Given the description of an element on the screen output the (x, y) to click on. 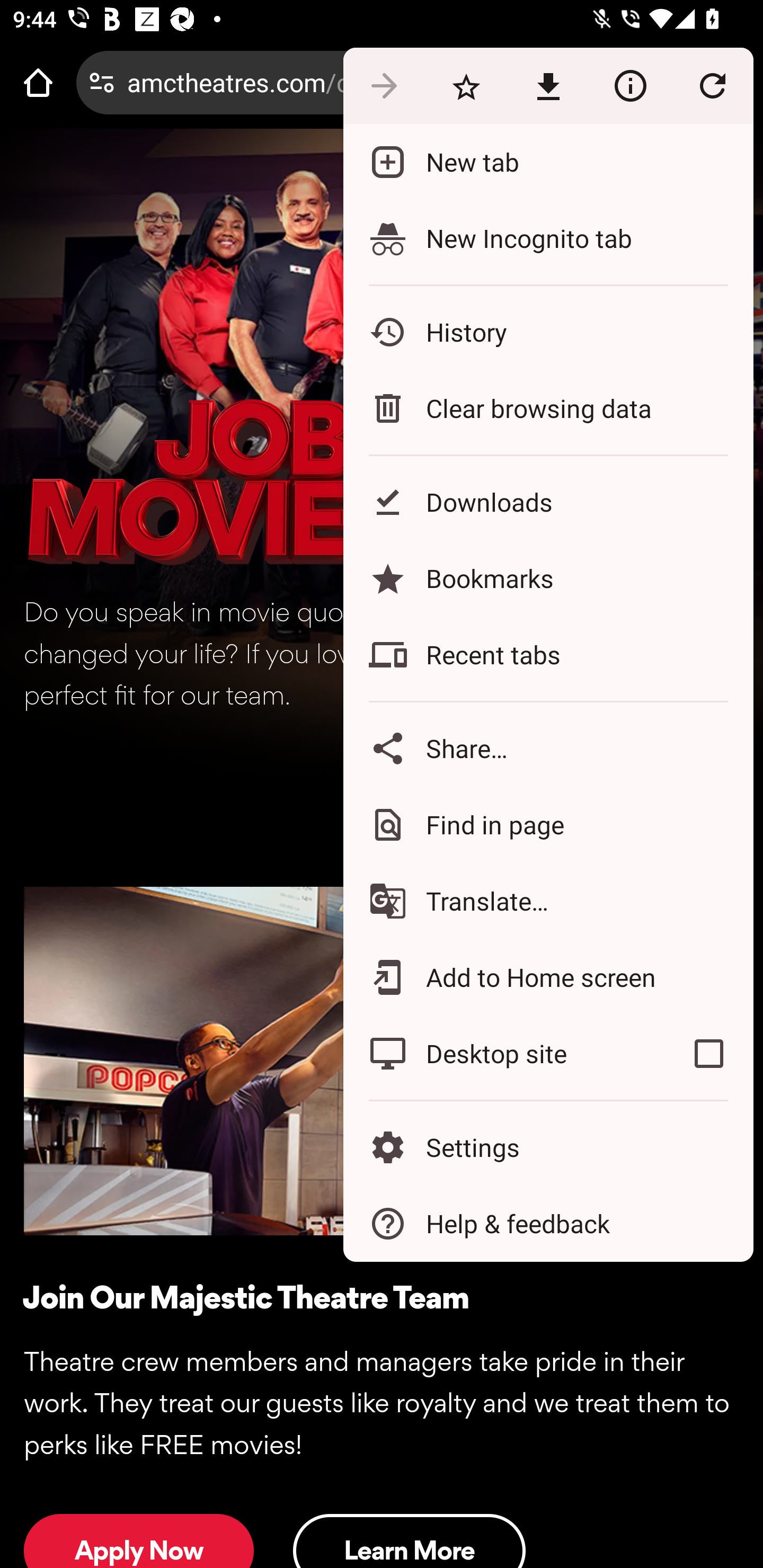
Forward (383, 85)
Bookmark (465, 85)
Download (548, 85)
Page info (630, 85)
Refresh (712, 85)
New tab (548, 161)
New Incognito tab (548, 237)
History (548, 332)
Clear browsing data (548, 408)
Downloads (548, 502)
Bookmarks (548, 578)
Recent tabs (548, 654)
Share… (548, 748)
Find in page (548, 824)
Translate… (548, 900)
Add to Home screen (548, 977)
Desktop site Turn on Request desktop site (503, 1053)
Settings (548, 1146)
Help & feedback (548, 1223)
